Given the description of an element on the screen output the (x, y) to click on. 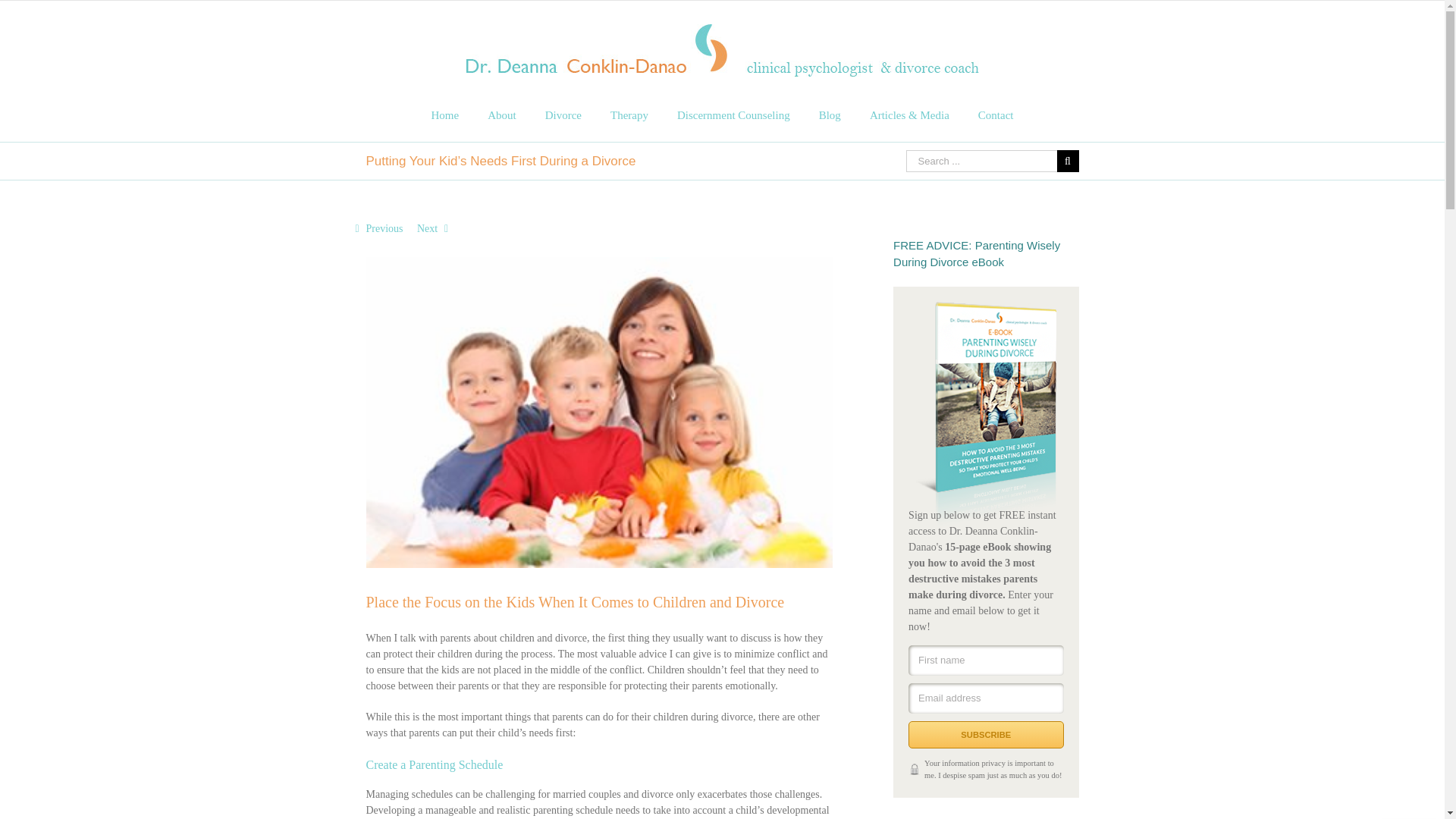
Contact (995, 114)
Home (444, 114)
About (501, 114)
Discernment Counseling (733, 114)
Previous (384, 228)
Subscribe (985, 734)
Divorce (562, 114)
Therapy (628, 114)
